Given the description of an element on the screen output the (x, y) to click on. 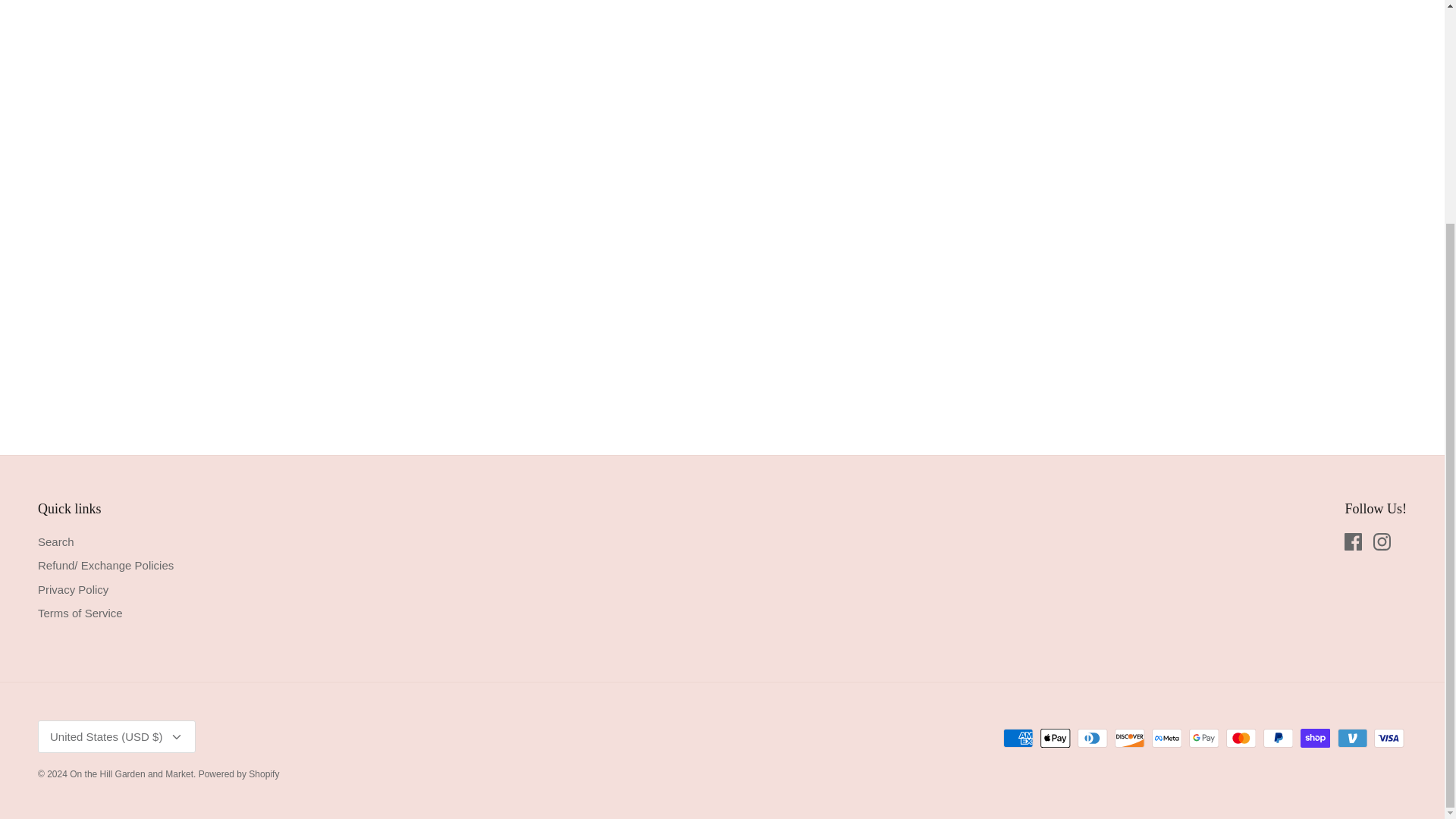
Venmo (1352, 737)
Apple Pay (1055, 737)
Diners Club (1092, 737)
Down (176, 736)
Discover (1129, 737)
Google Pay (1203, 737)
Meta Pay (1166, 737)
PayPal (1277, 737)
American Express (1018, 737)
Mastercard (1240, 737)
